Given the description of an element on the screen output the (x, y) to click on. 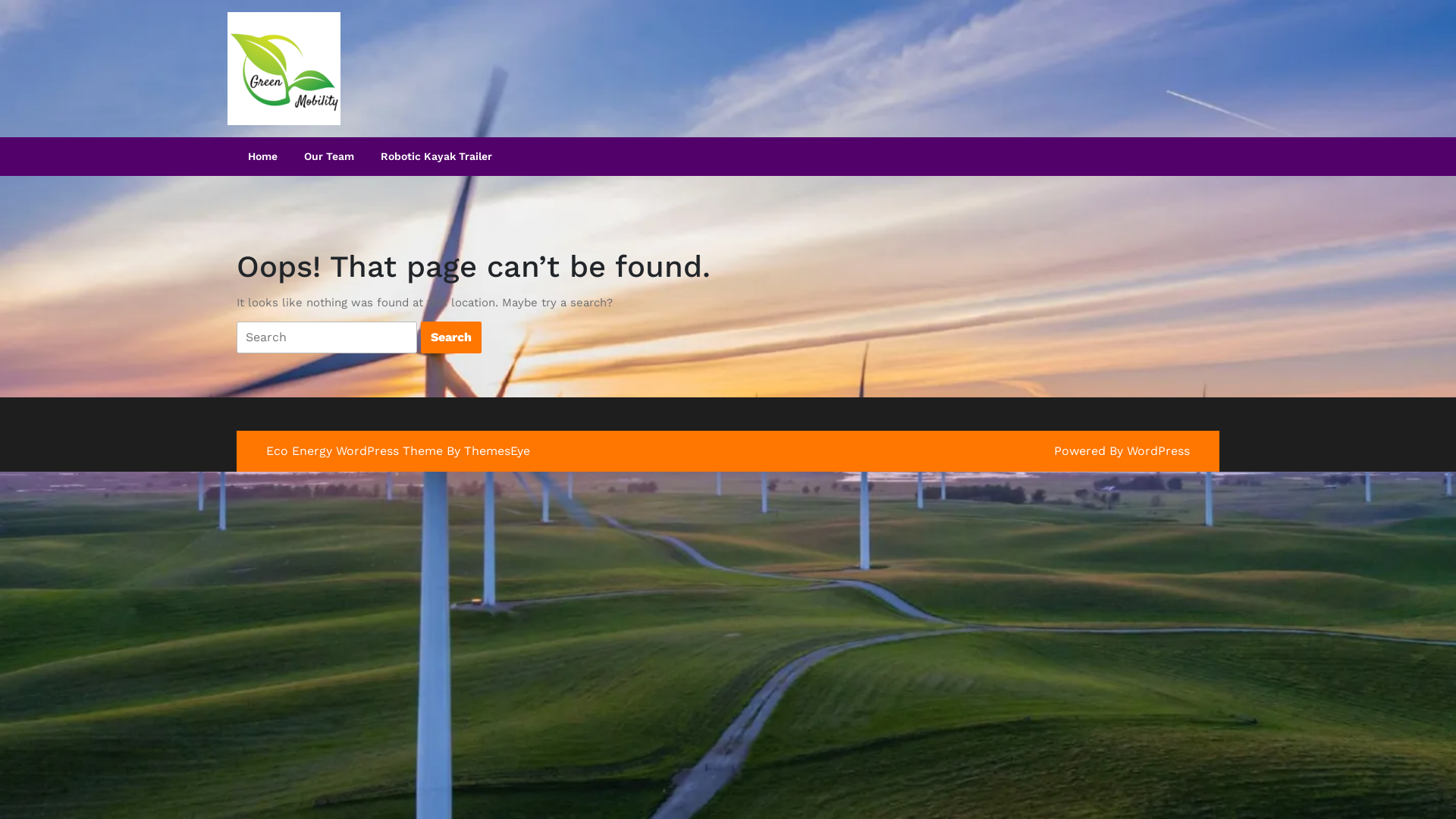
Our Team Element type: text (328, 156)
Robotic Kayak Trailer Element type: text (436, 156)
Home Element type: text (262, 156)
Eco Energy WordPress Theme Element type: text (354, 450)
Search Element type: text (450, 337)
